Given the description of an element on the screen output the (x, y) to click on. 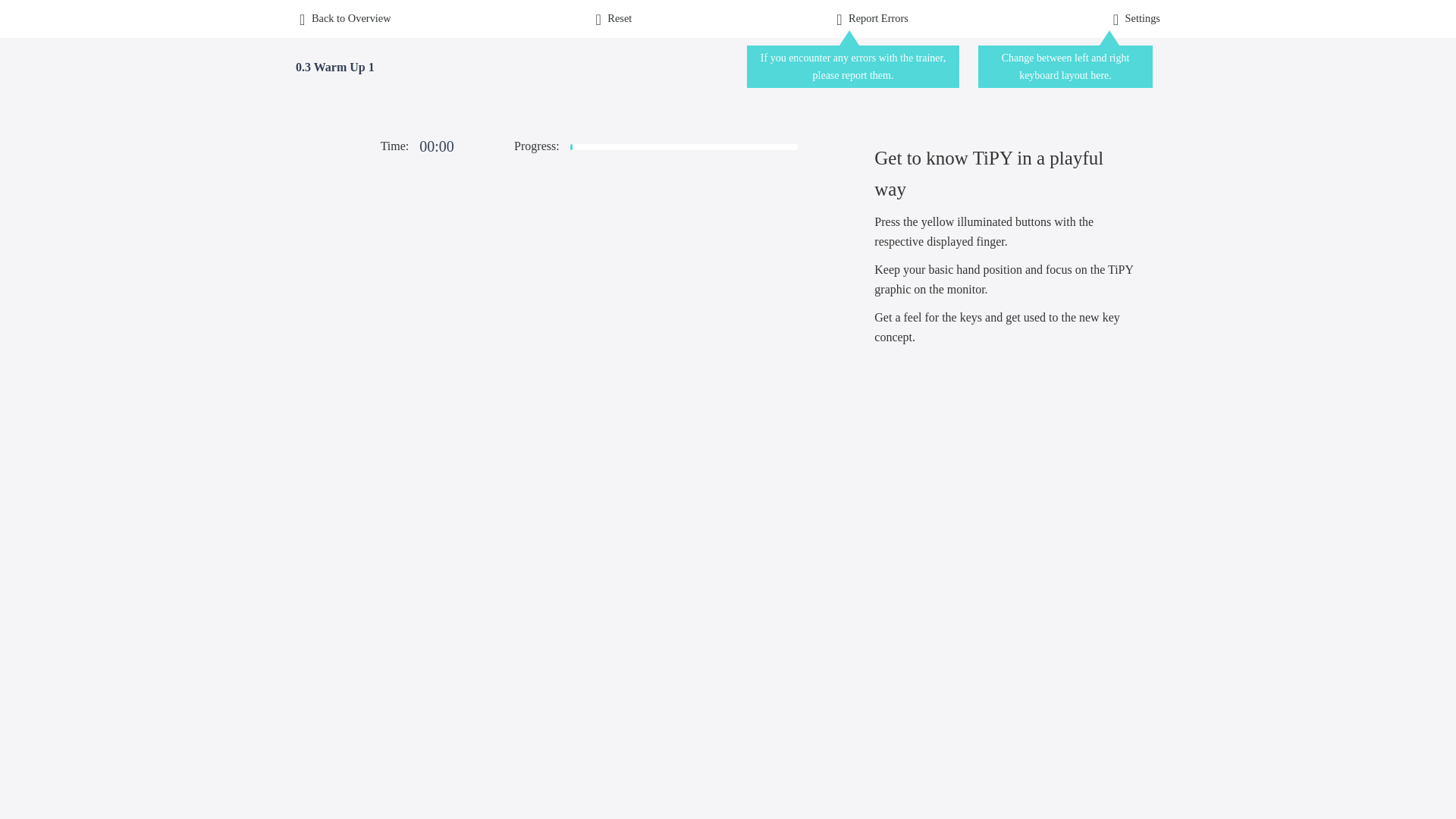
settings (1134, 18)
Back to Overview (343, 18)
All Lessons List (343, 18)
Report Errors (870, 18)
Reset (611, 18)
Settings (1134, 18)
redo (611, 18)
